Given the description of an element on the screen output the (x, y) to click on. 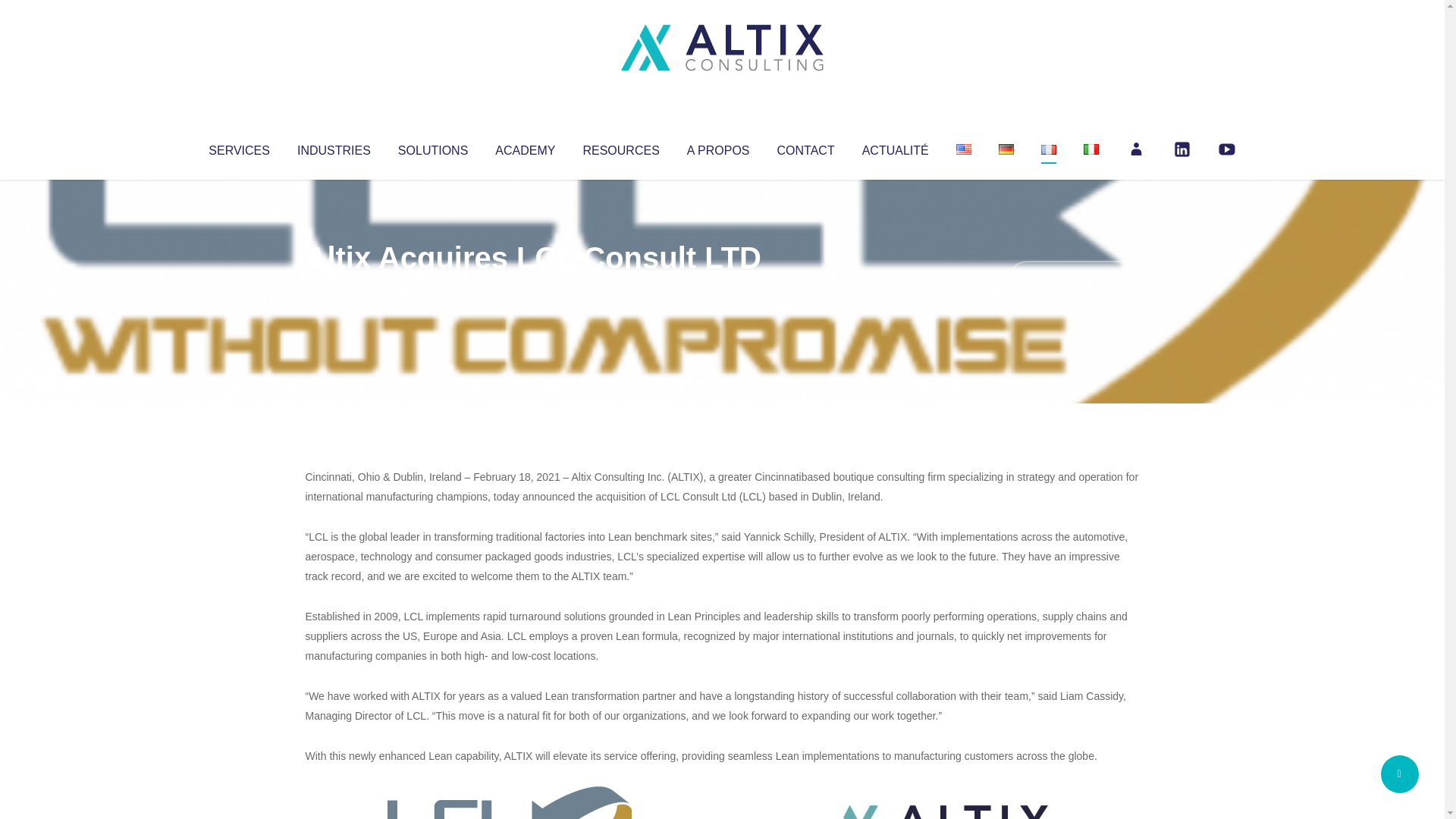
RESOURCES (620, 146)
A PROPOS (718, 146)
Uncategorized (530, 287)
Articles par Altix (333, 287)
No Comments (1073, 278)
SERVICES (238, 146)
Altix (333, 287)
INDUSTRIES (334, 146)
ACADEMY (524, 146)
SOLUTIONS (432, 146)
